Given the description of an element on the screen output the (x, y) to click on. 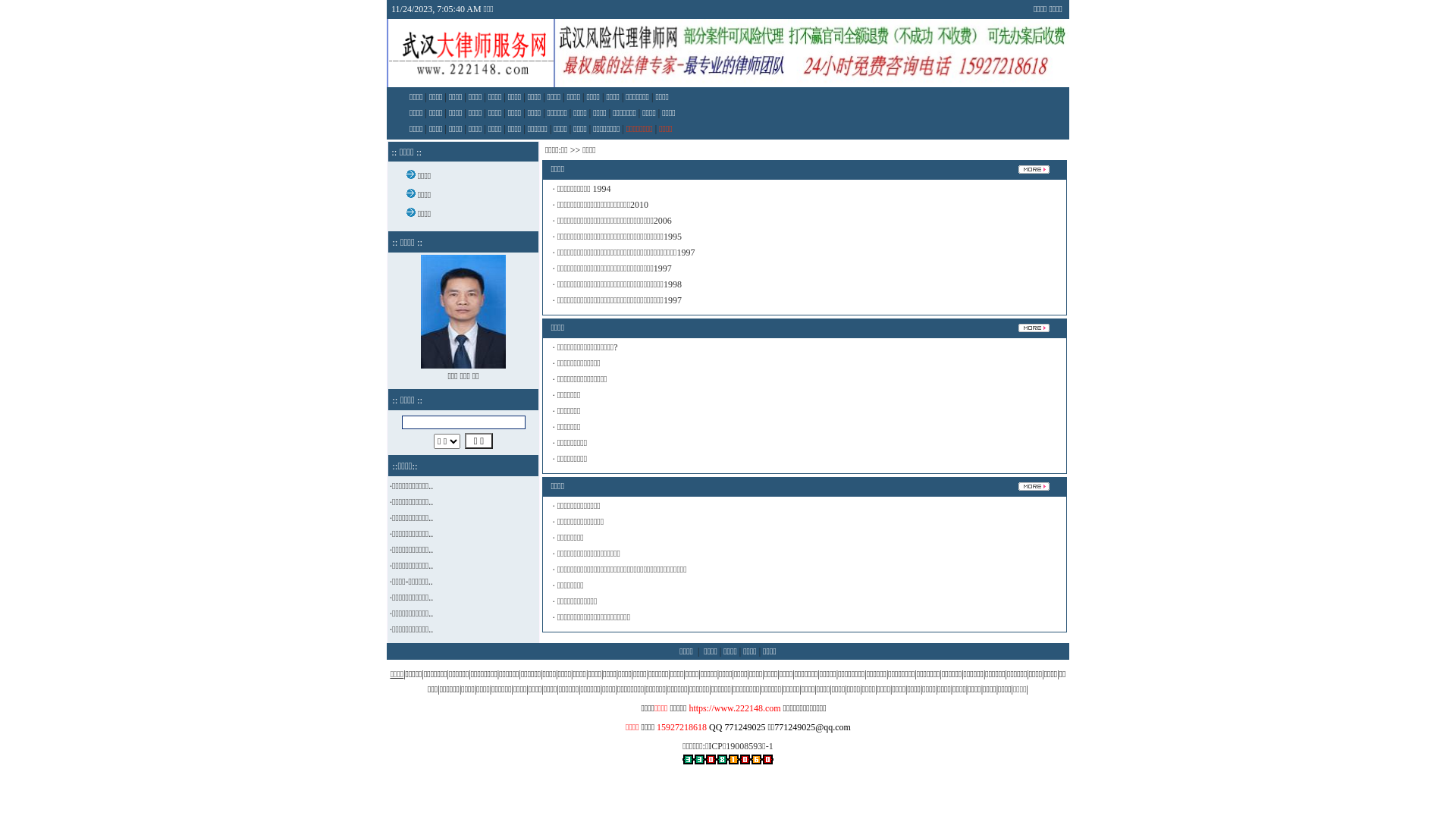
https://www.222148.com Element type: text (734, 707)
